Given the description of an element on the screen output the (x, y) to click on. 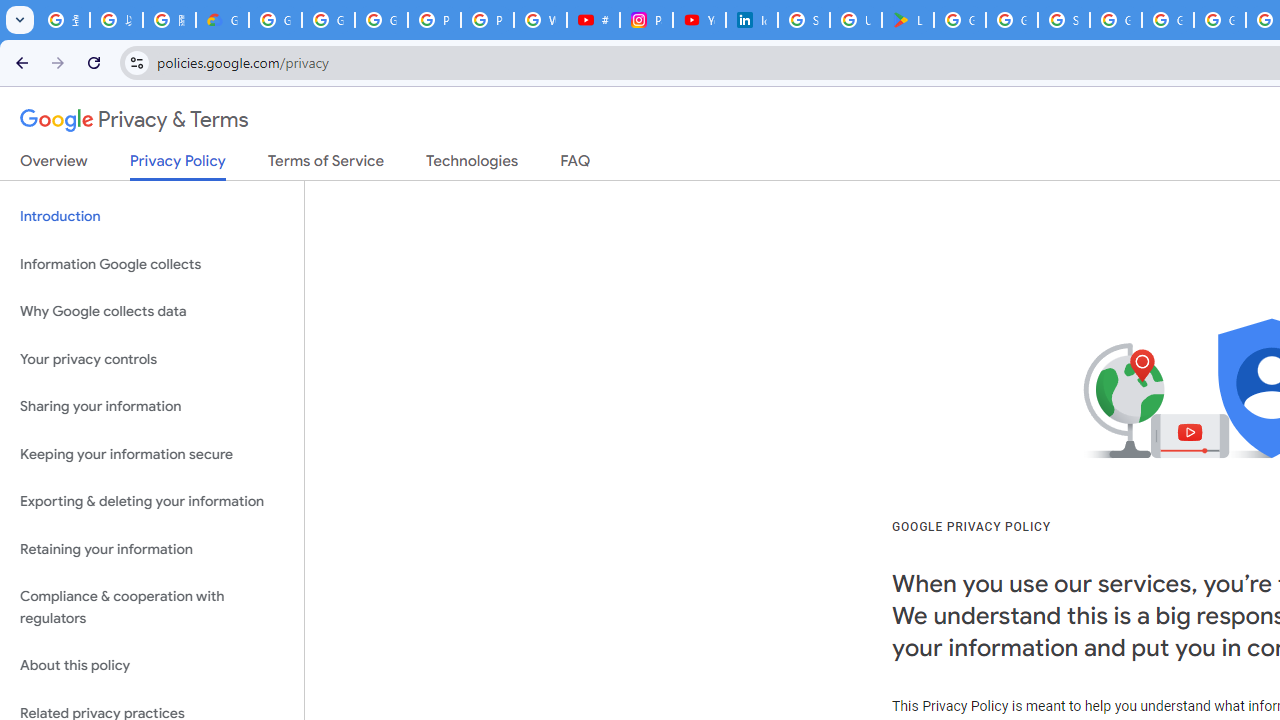
Sign in - Google Accounts (1064, 20)
Google Cloud Platform (1167, 20)
Sign in - Google Accounts (803, 20)
Last Shelter: Survival - Apps on Google Play (907, 20)
Google Workspace - Specific Terms (1011, 20)
